Given the description of an element on the screen output the (x, y) to click on. 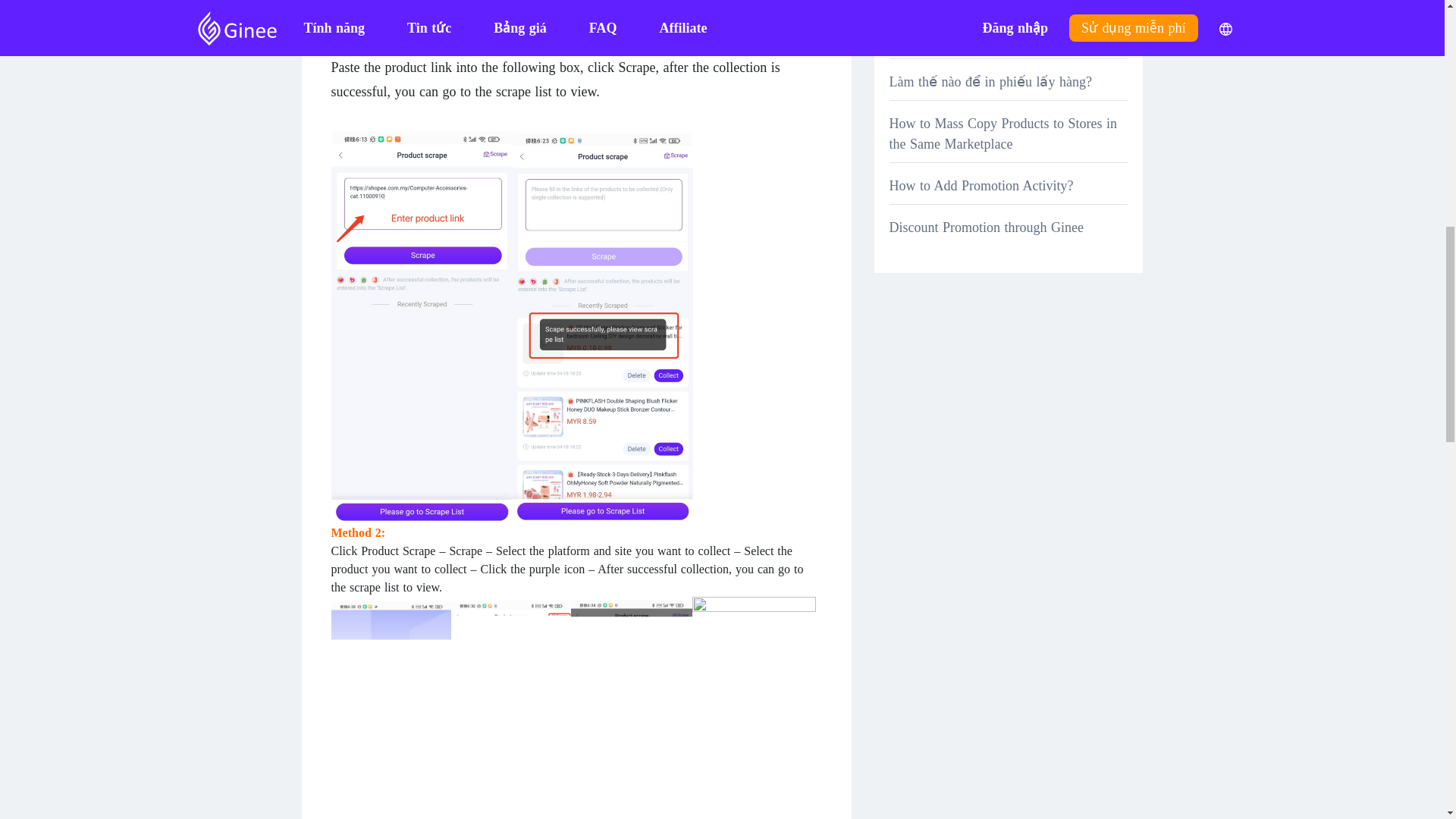
How to Add Promotion Activity? (980, 185)
Discount Promotion through Ginee (985, 227)
How to Mass Copy Products to Stores in the Same Marketplace (1002, 133)
